Given the description of an element on the screen output the (x, y) to click on. 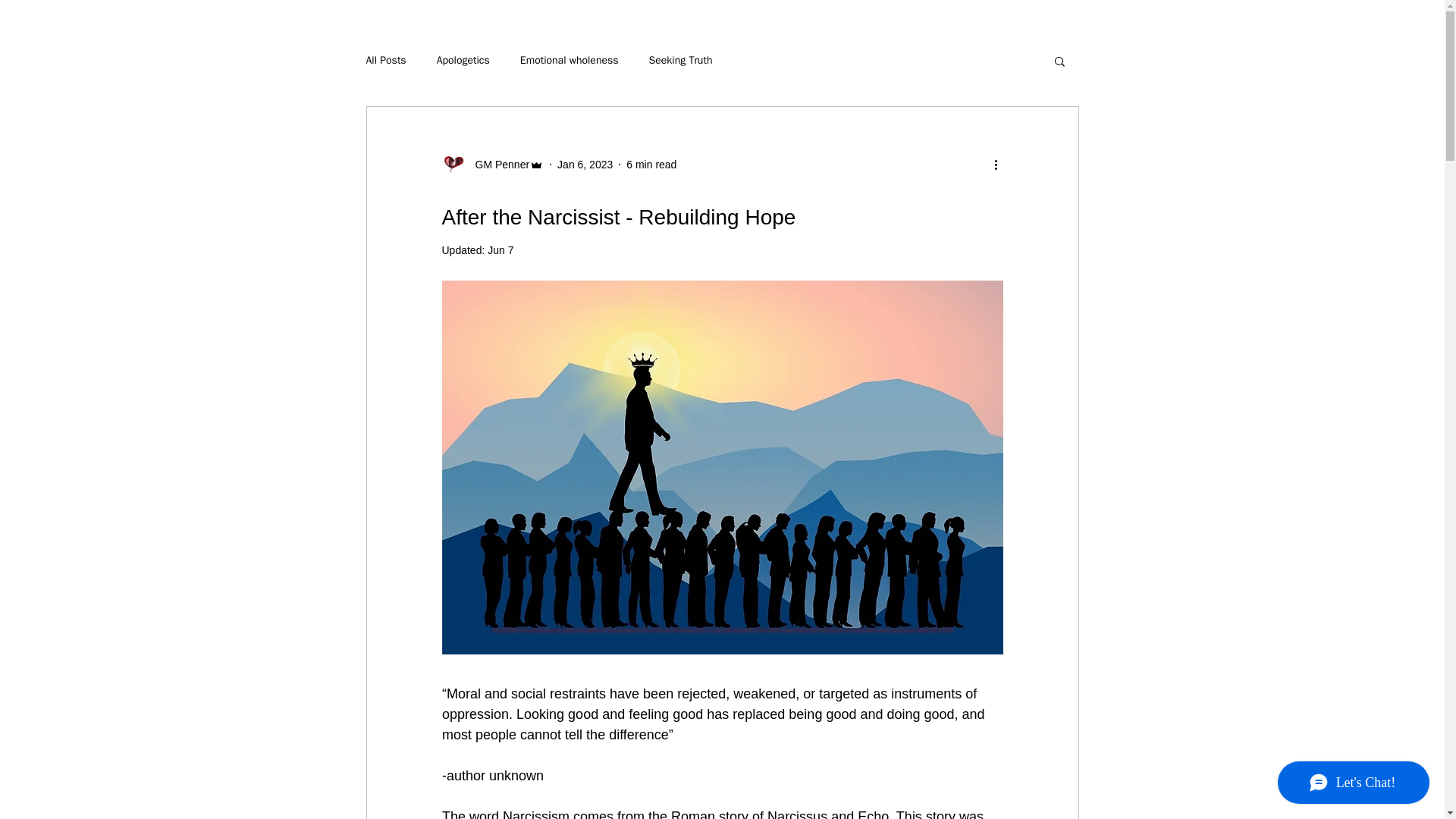
Seeking Truth (681, 60)
Emotional wholeness (568, 60)
GM Penner (497, 163)
Jan 6, 2023 (584, 163)
6 min read (651, 163)
Jun 7 (500, 250)
GM Penner (492, 164)
Apologetics (462, 60)
All Posts (385, 60)
